Given the description of an element on the screen output the (x, y) to click on. 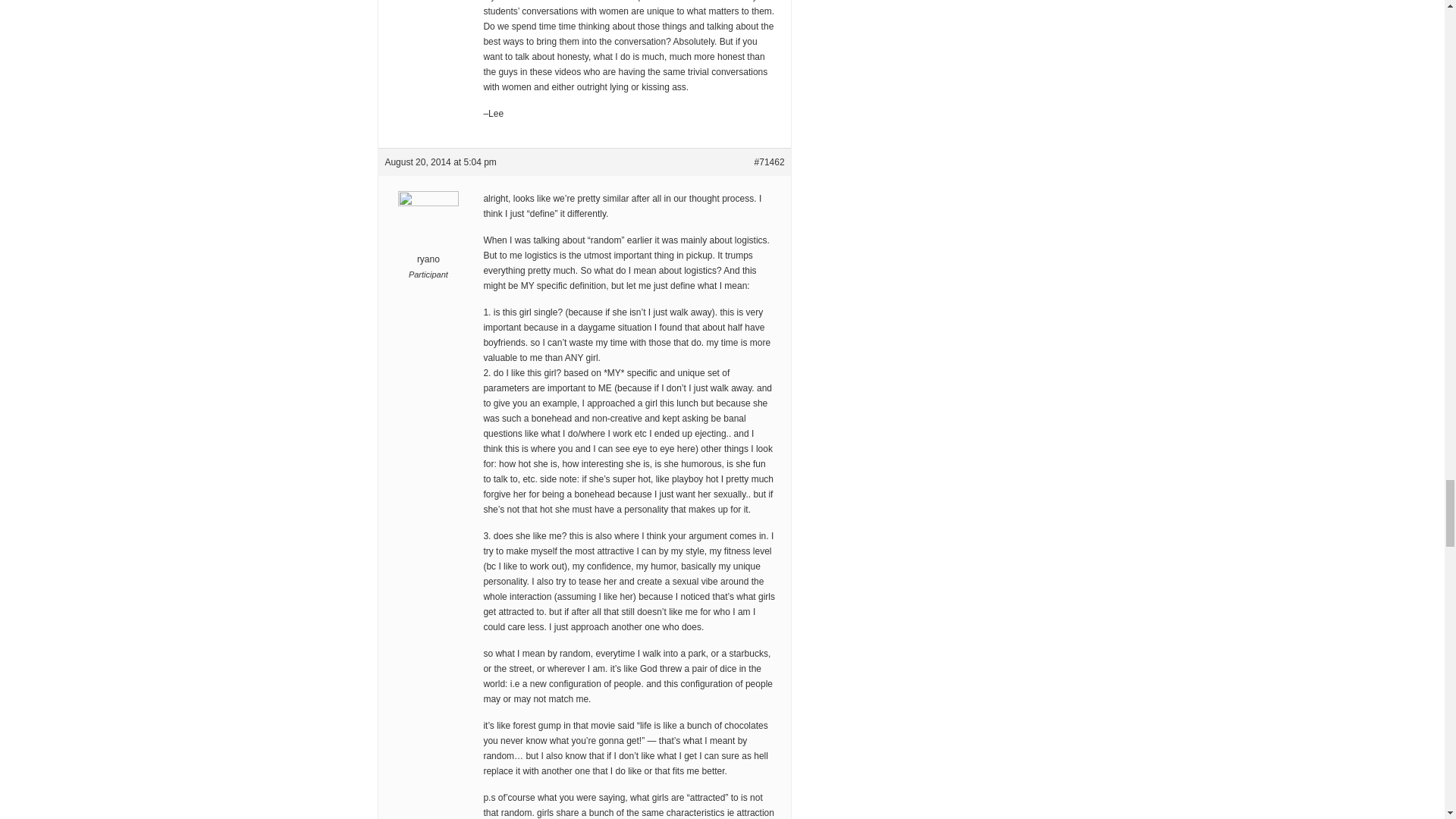
View ryano's profile (427, 238)
ryano (427, 238)
